Given the description of an element on the screen output the (x, y) to click on. 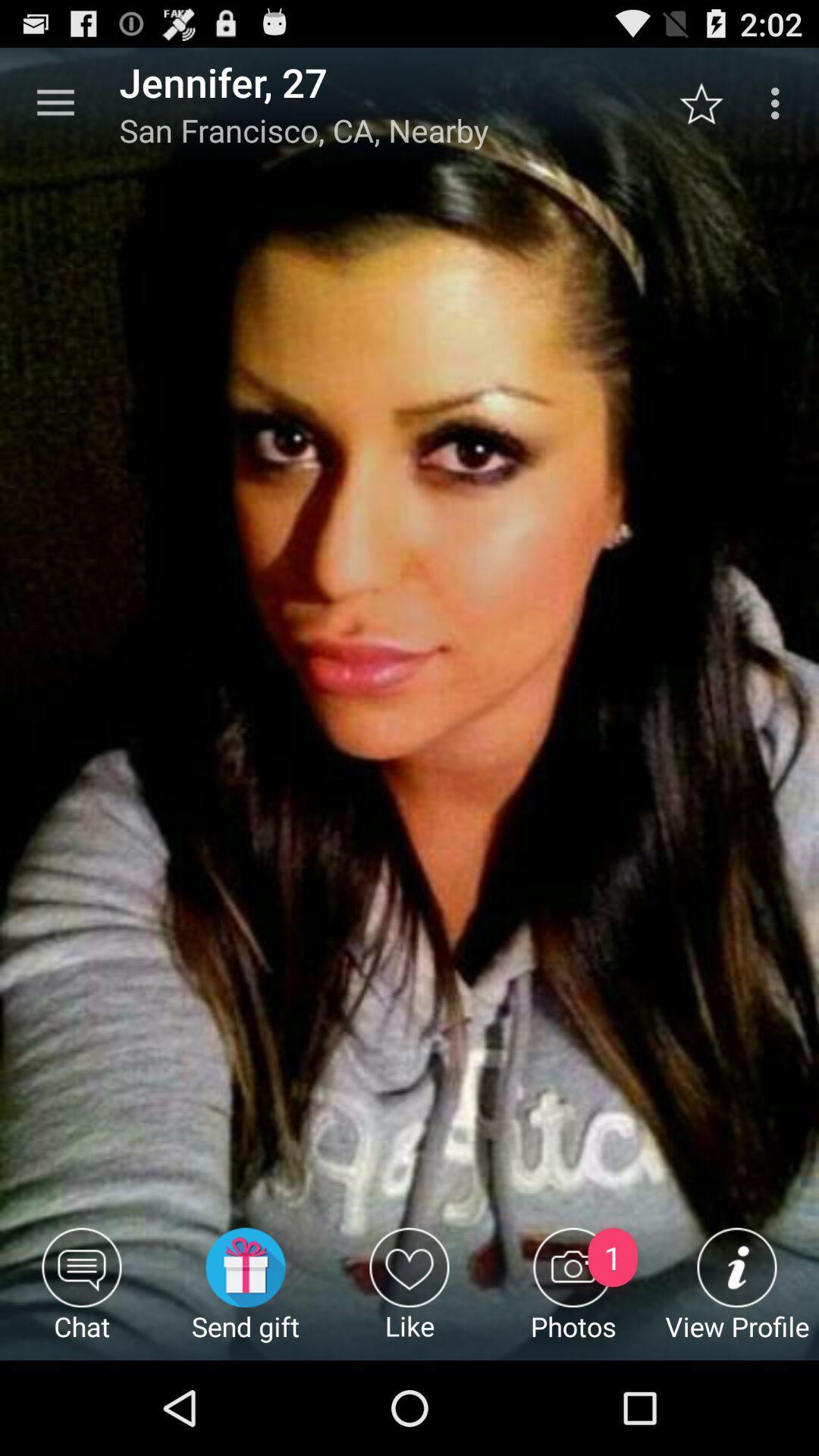
select item next to the photos (409, 1293)
